Given the description of an element on the screen output the (x, y) to click on. 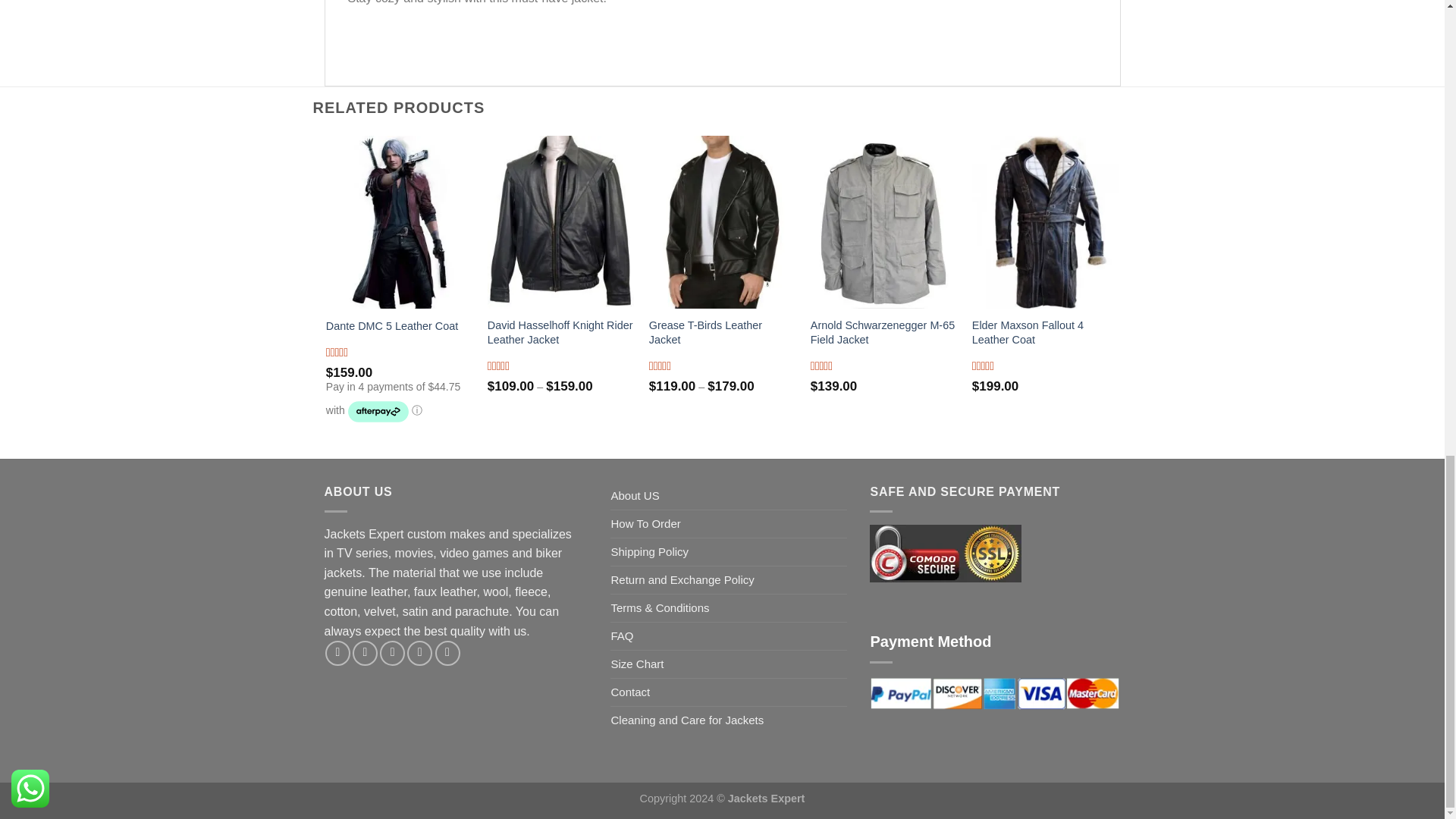
Follow on Twitter (392, 652)
Follow on Instagram (364, 652)
Follow on Facebook (337, 652)
